Given the description of an element on the screen output the (x, y) to click on. 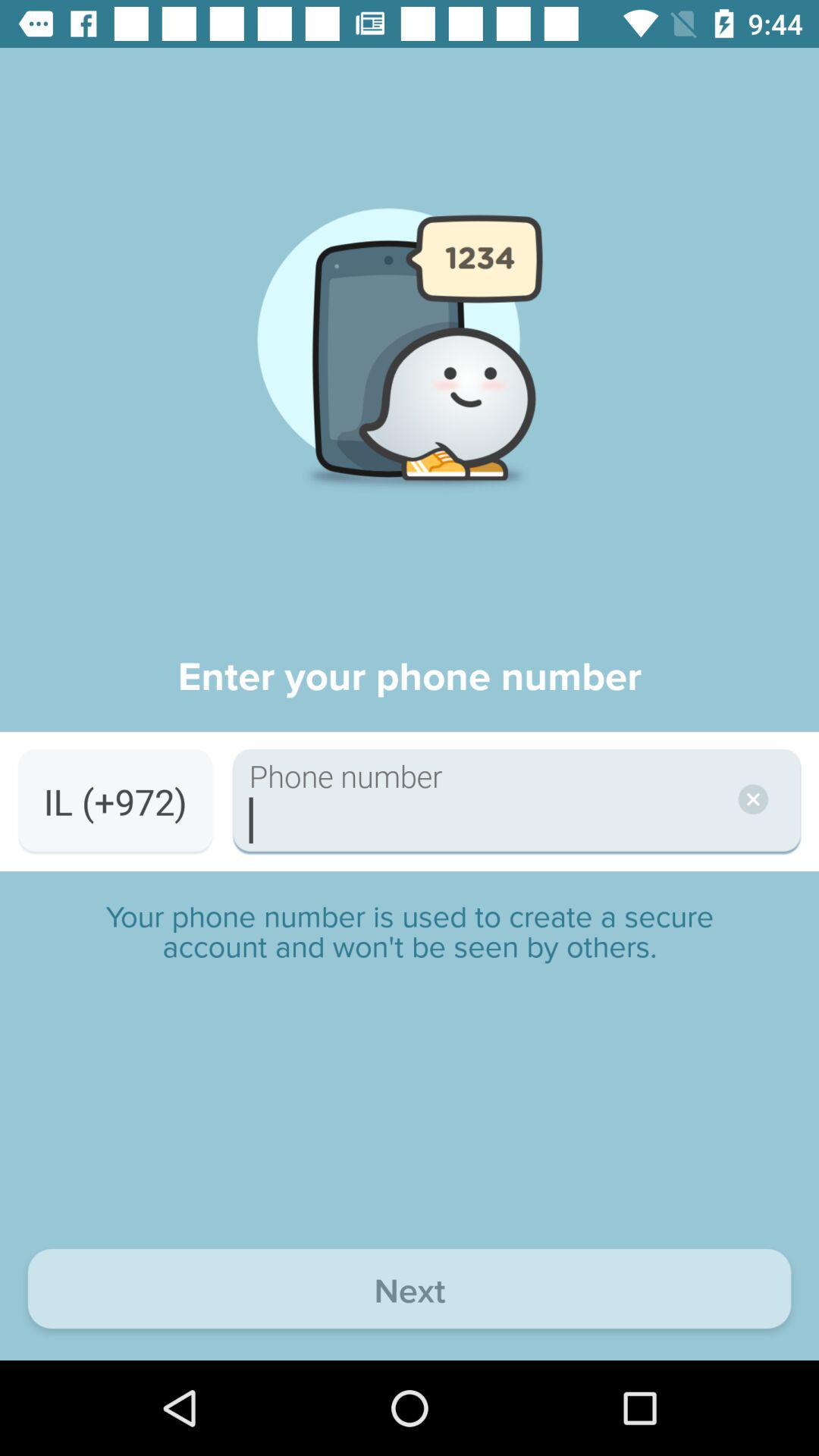
flip to the next (409, 1292)
